Given the description of an element on the screen output the (x, y) to click on. 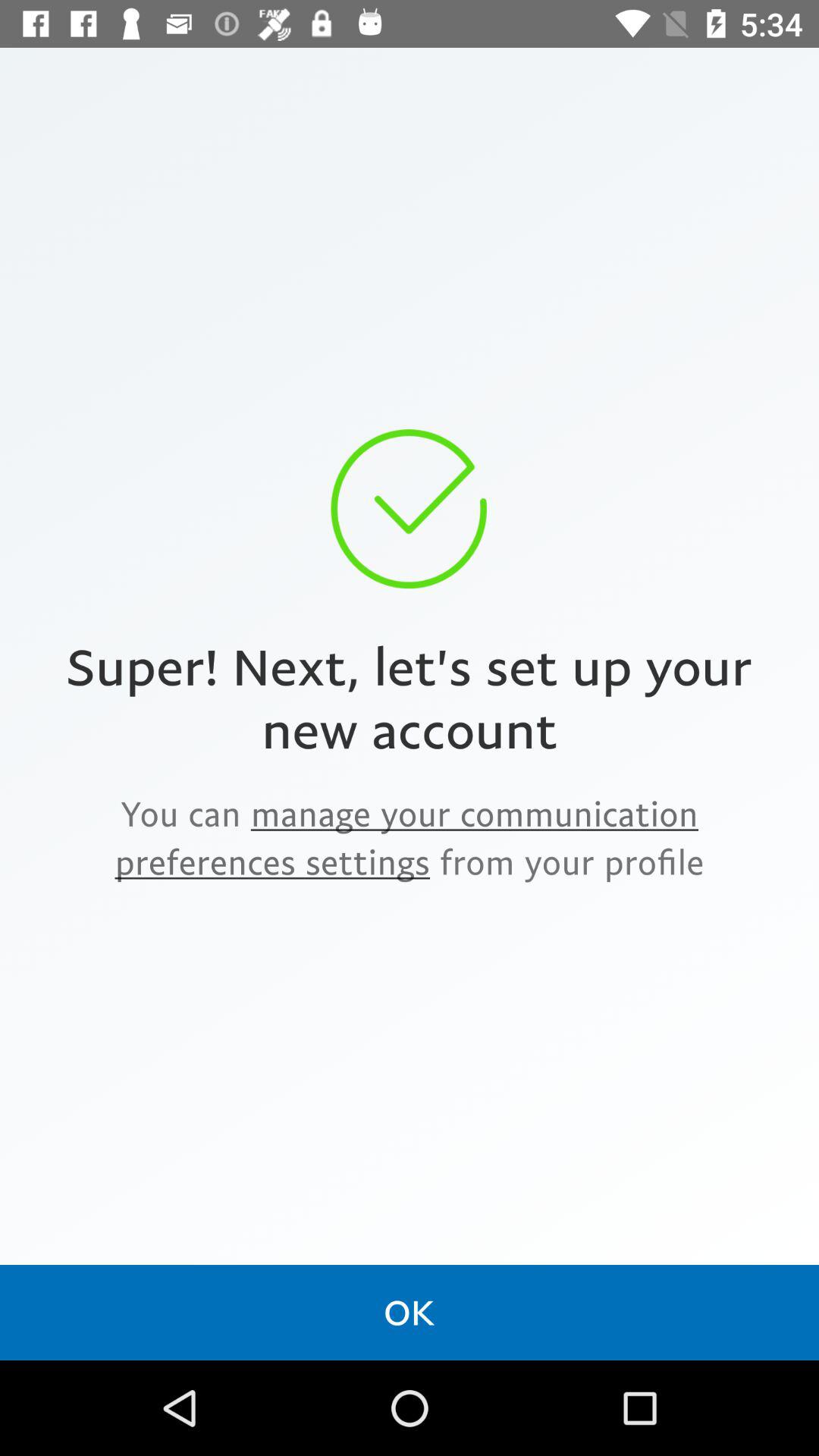
press the ok icon (409, 1312)
